Given the description of an element on the screen output the (x, y) to click on. 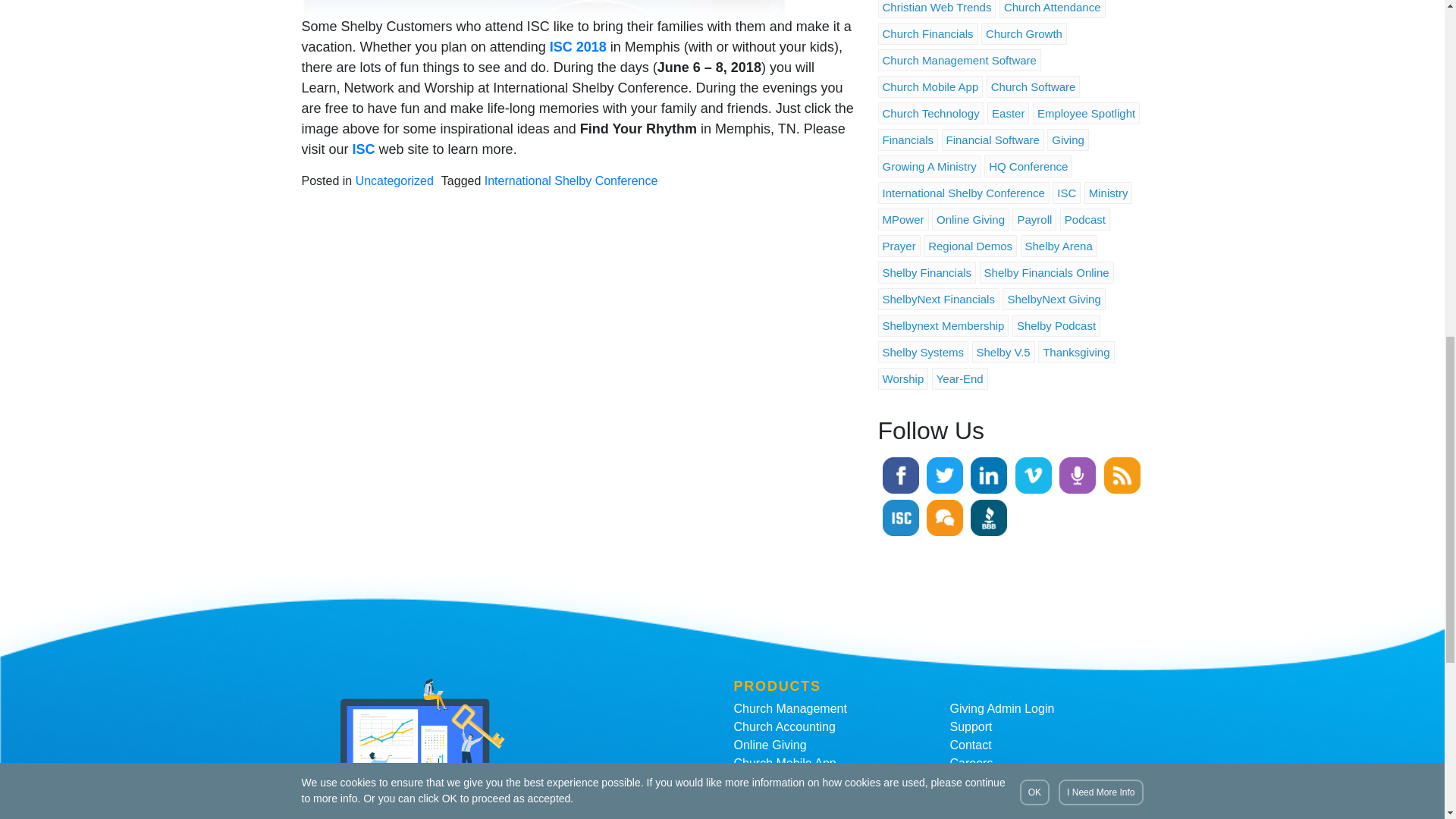
International Shelby Conference (571, 180)
Uncategorized (394, 180)
ISC 2018 (578, 46)
ISC (363, 149)
